Given the description of an element on the screen output the (x, y) to click on. 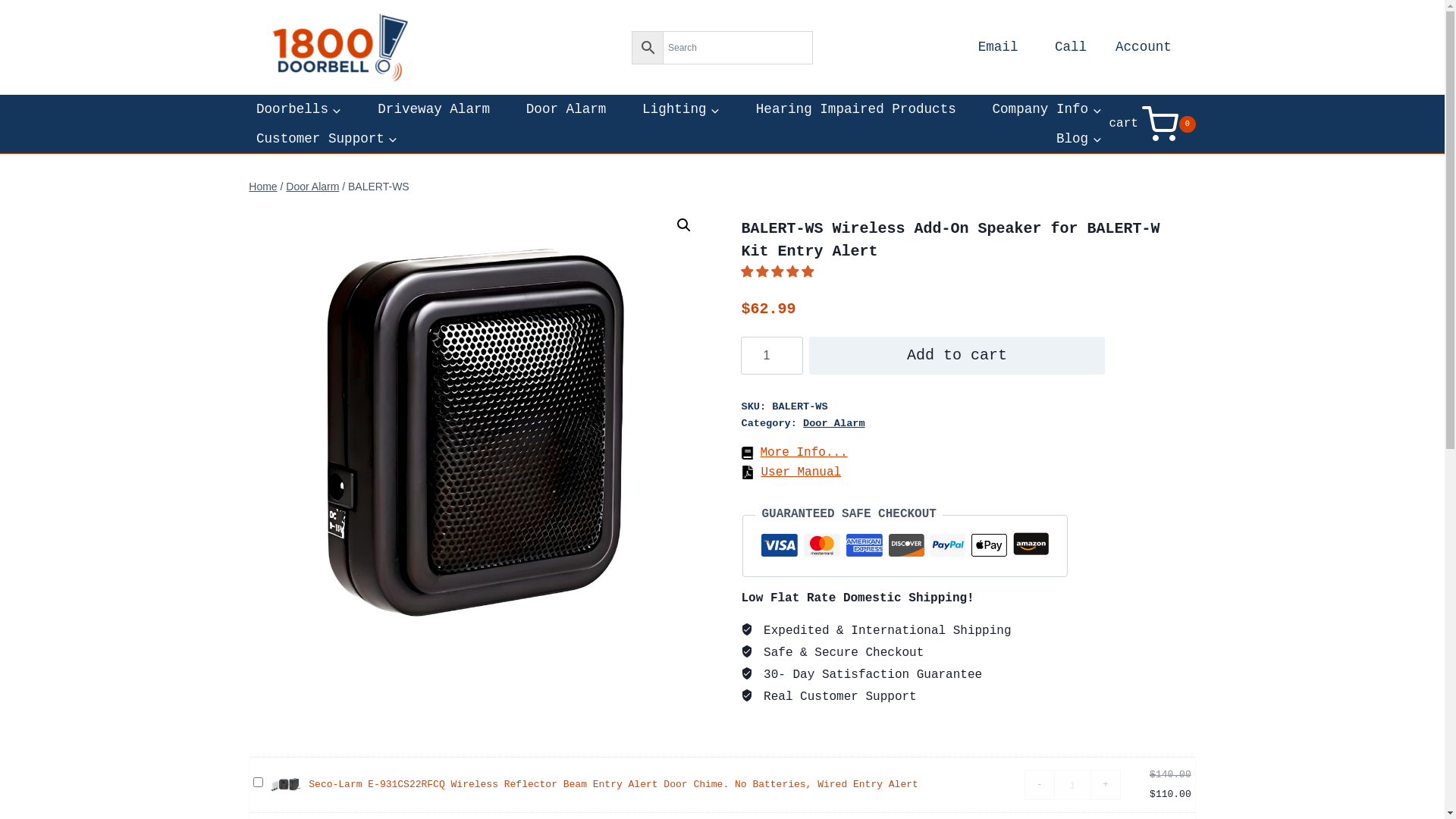
Door Alarm Element type: text (311, 186)
Driveway Alarm Element type: text (433, 109)
Hearing Impaired Products Element type: text (855, 109)
Call Element type: text (1070, 47)
cart
0 Element type: text (1151, 123)
Add to cart Element type: text (956, 355)
Customer Support Element type: text (326, 138)
User Manual Element type: text (790, 472)
Email Element type: text (997, 47)
balert enforcer add on speaker seco larm Element type: hover (475, 432)
More Info... Element type: text (793, 452)
Door Alarm Element type: text (565, 109)
Company Info Element type: text (1047, 109)
Door Alarm Element type: text (834, 423)
Blog Element type: text (1078, 138)
Lighting Element type: text (680, 109)
Account Element type: text (1143, 47)
Home Element type: text (262, 186)
Doorbells Element type: text (298, 109)
